Given the description of an element on the screen output the (x, y) to click on. 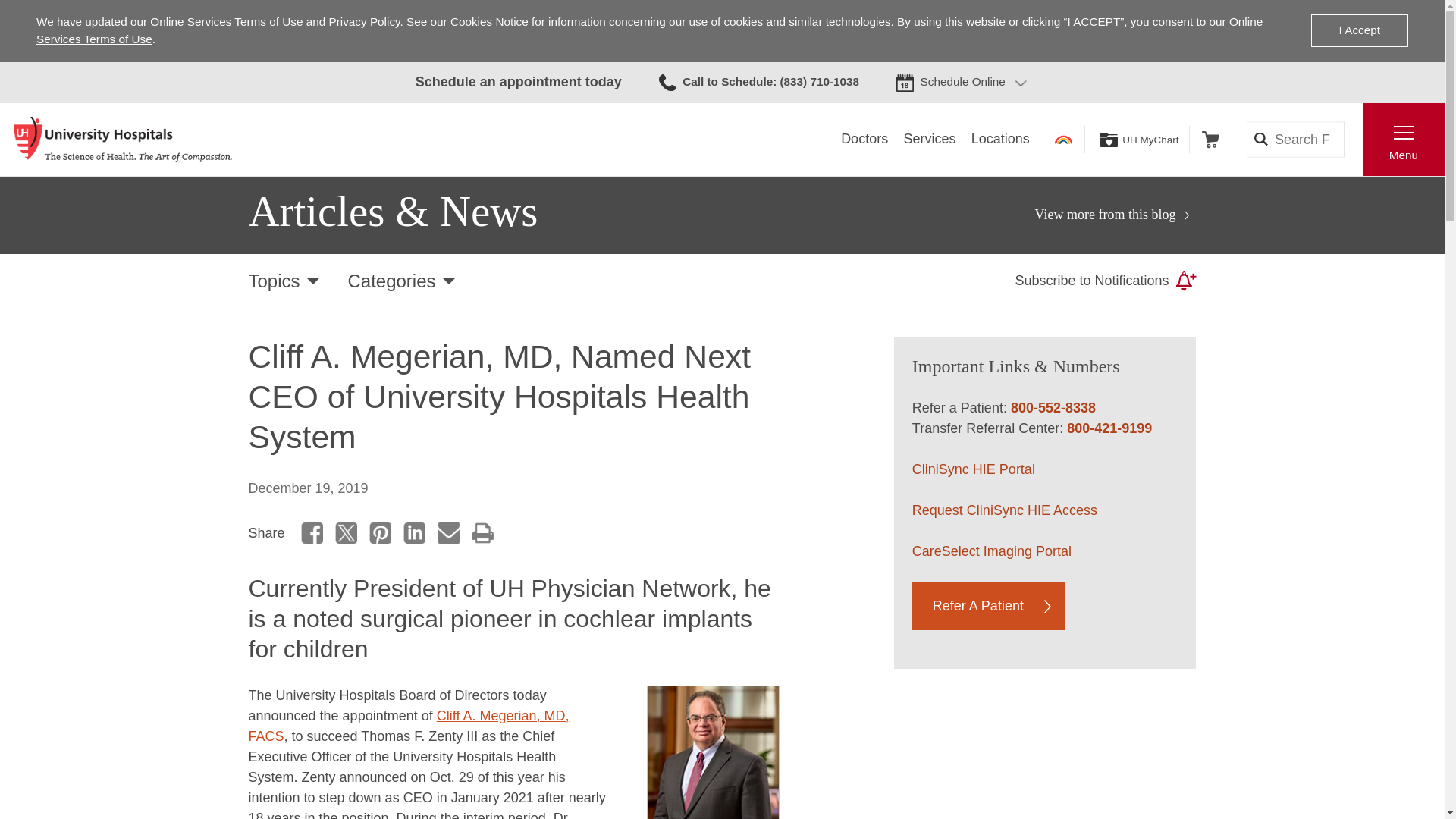
Privacy Policy (363, 21)
Online Services Terms of Use (649, 30)
I Accept (1359, 30)
Cookies Notice (488, 21)
Schedule Online (962, 81)
Online Services Terms of Use (225, 21)
